Given the description of an element on the screen output the (x, y) to click on. 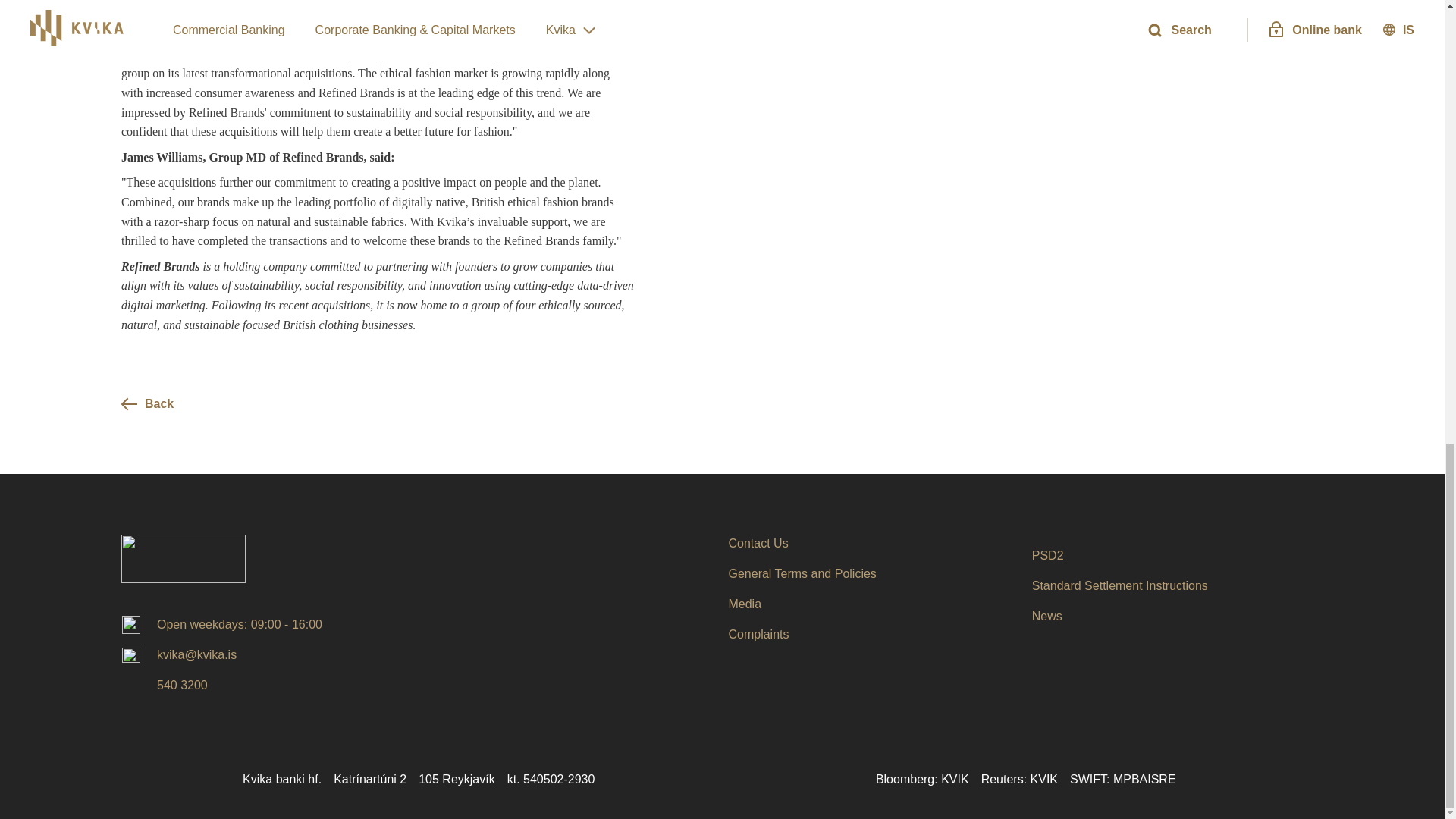
Complaints (758, 634)
Back (215, 403)
540 3200 (164, 685)
Media (744, 604)
Contact Us (757, 543)
General Terms and Policies (802, 574)
News (1047, 616)
Standard Settlement Instructions (1120, 586)
PSD2 (1048, 556)
